Given the description of an element on the screen output the (x, y) to click on. 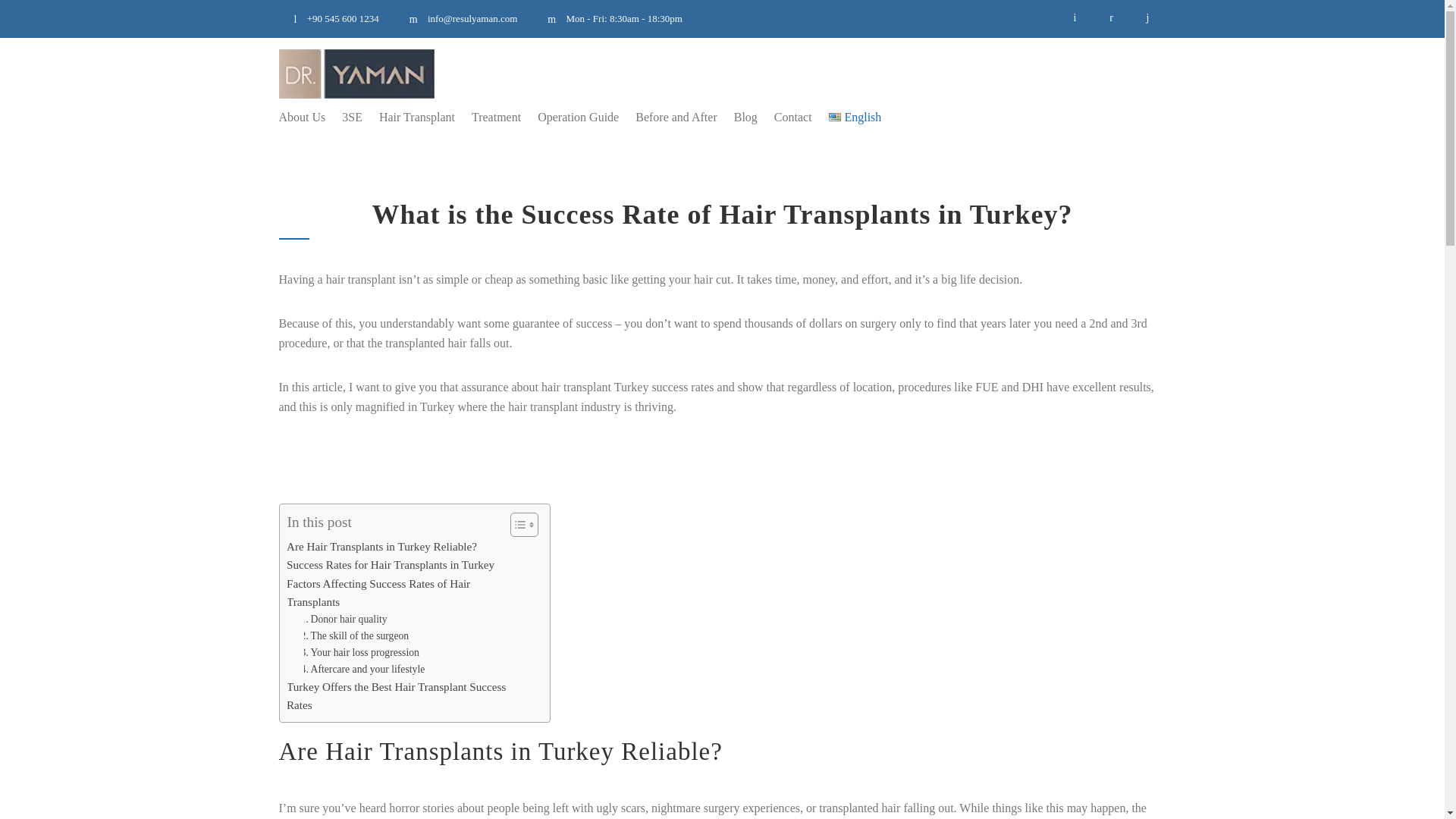
Turkey Offers the Best Hair Transplant Success Rates (399, 696)
Donor hair quality (339, 619)
Hair Transplant (408, 117)
Aftercare and your lifestyle (358, 669)
Blog (737, 117)
Operation Guide (569, 117)
Are Hair Transplants in Turkey Reliable? (376, 546)
About Us (302, 117)
Success Rates for Hair Transplants in Turkey (385, 565)
Treatment (487, 117)
